Given the description of an element on the screen output the (x, y) to click on. 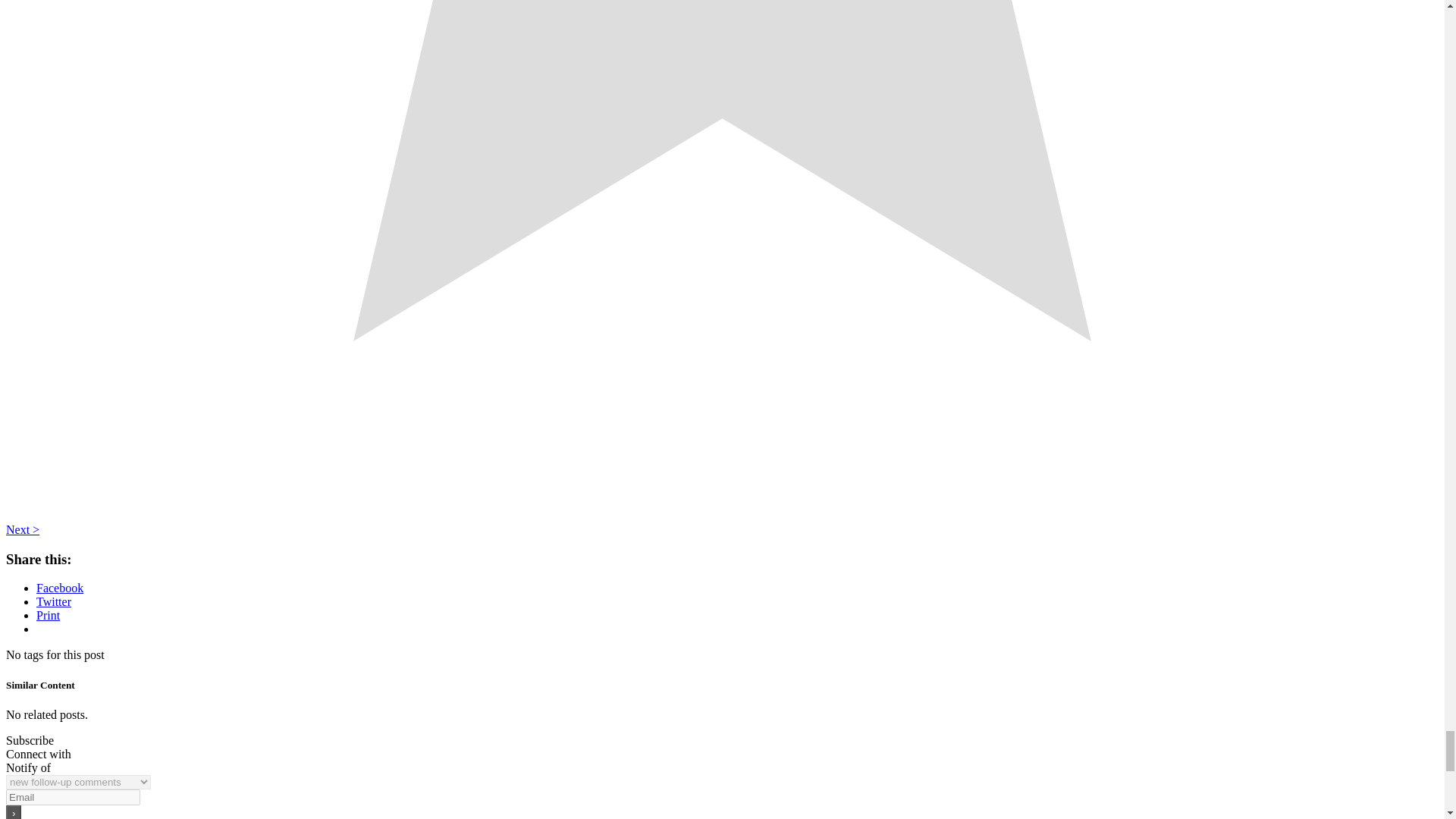
Click to print (47, 615)
Facebook (59, 587)
Click to share on Twitter (53, 601)
Print (47, 615)
Click to share on Facebook (59, 587)
Twitter (53, 601)
